Given the description of an element on the screen output the (x, y) to click on. 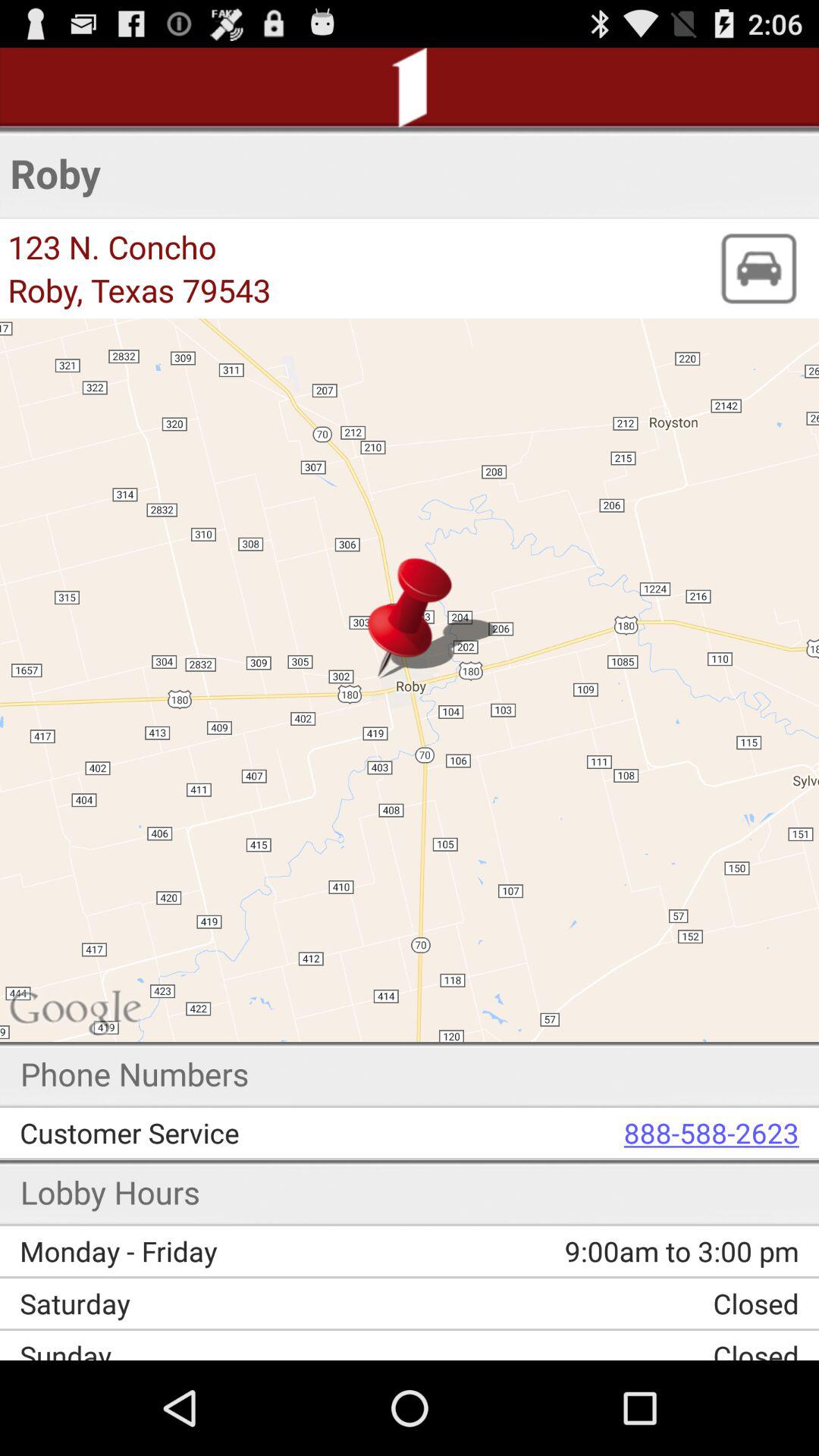
tap customer service icon (225, 1132)
